Given the description of an element on the screen output the (x, y) to click on. 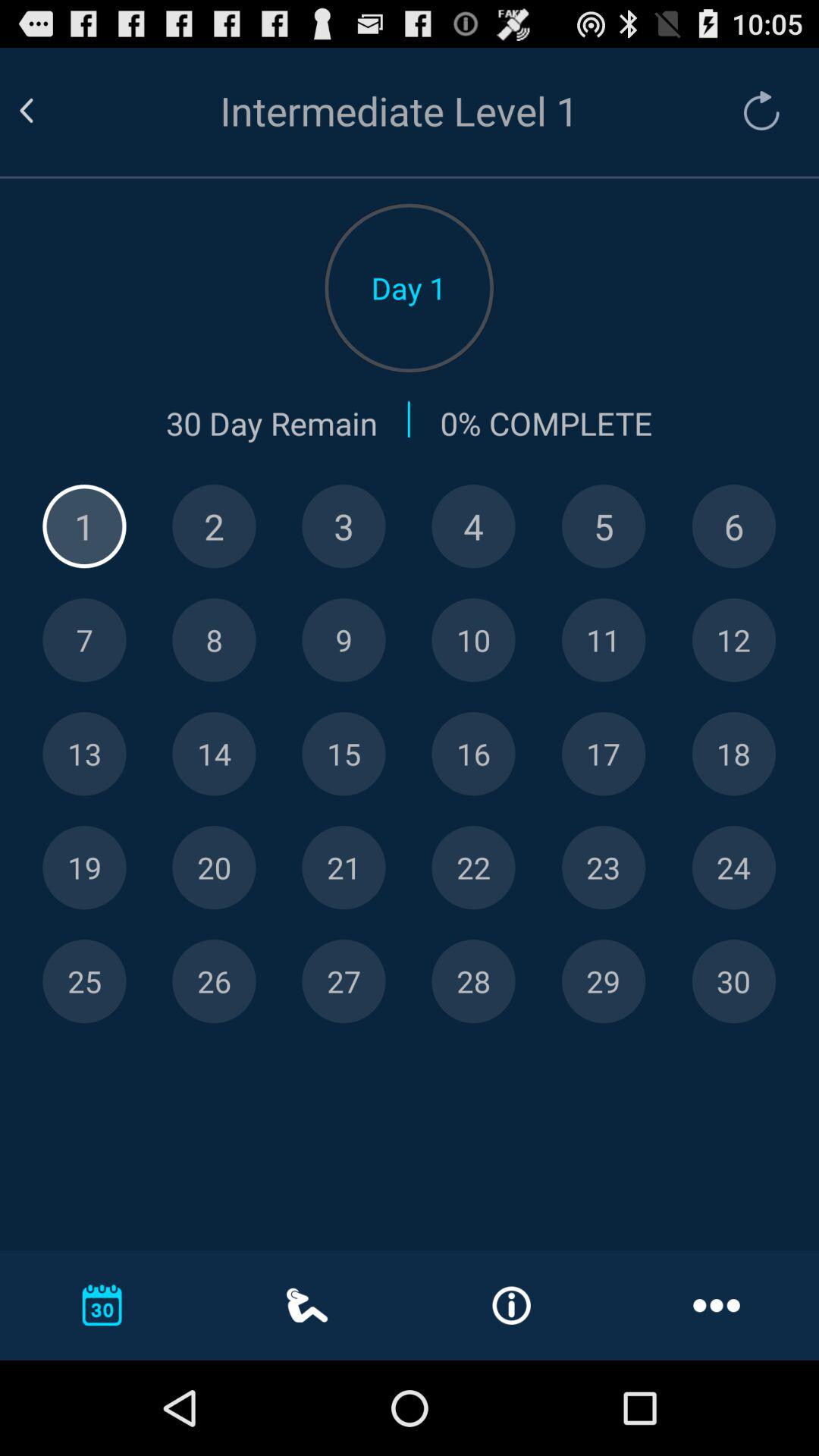
select day (343, 867)
